Given the description of an element on the screen output the (x, y) to click on. 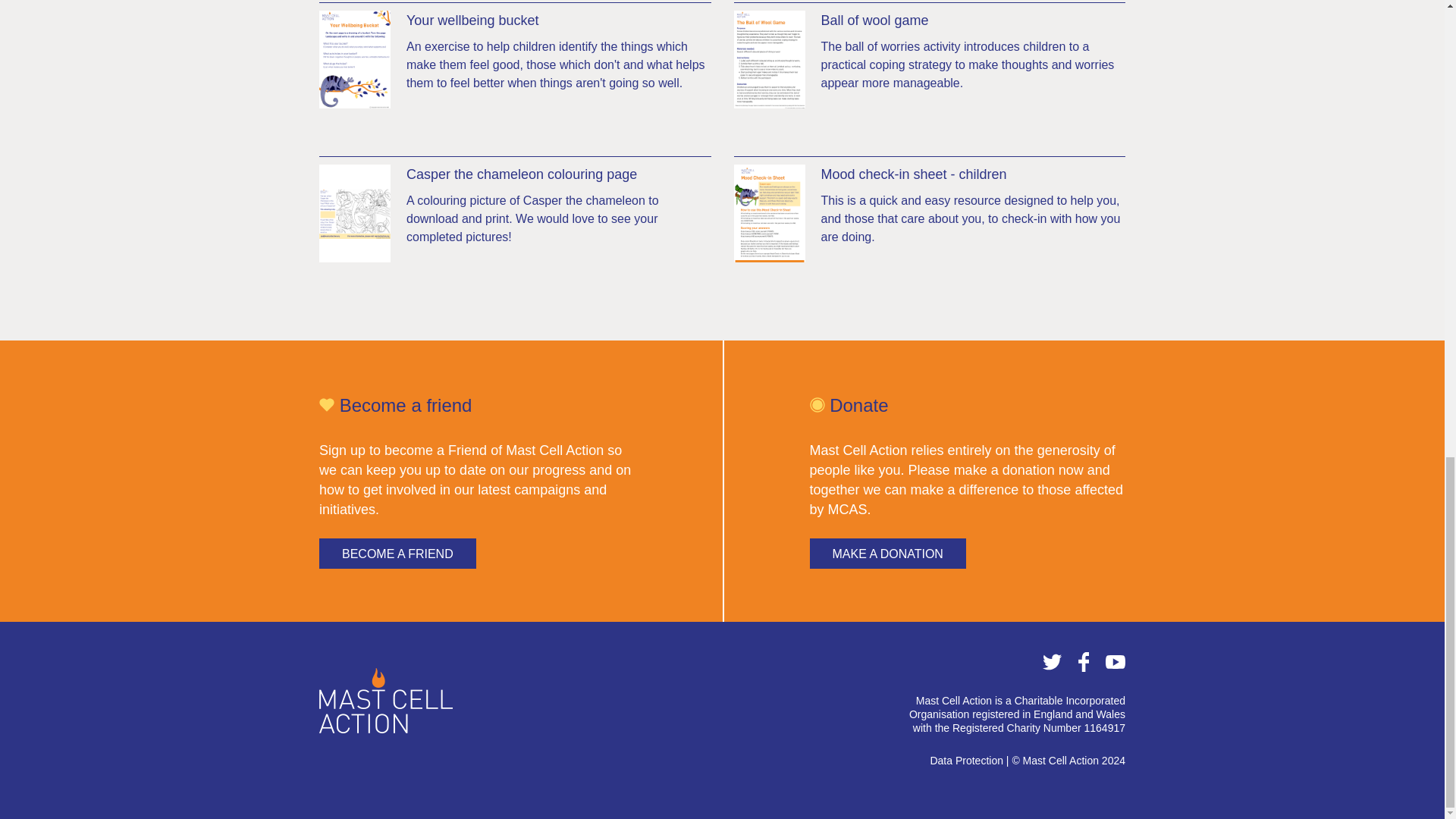
Twitter (1052, 667)
Facebook (1083, 667)
YouTube (1115, 667)
